Given the description of an element on the screen output the (x, y) to click on. 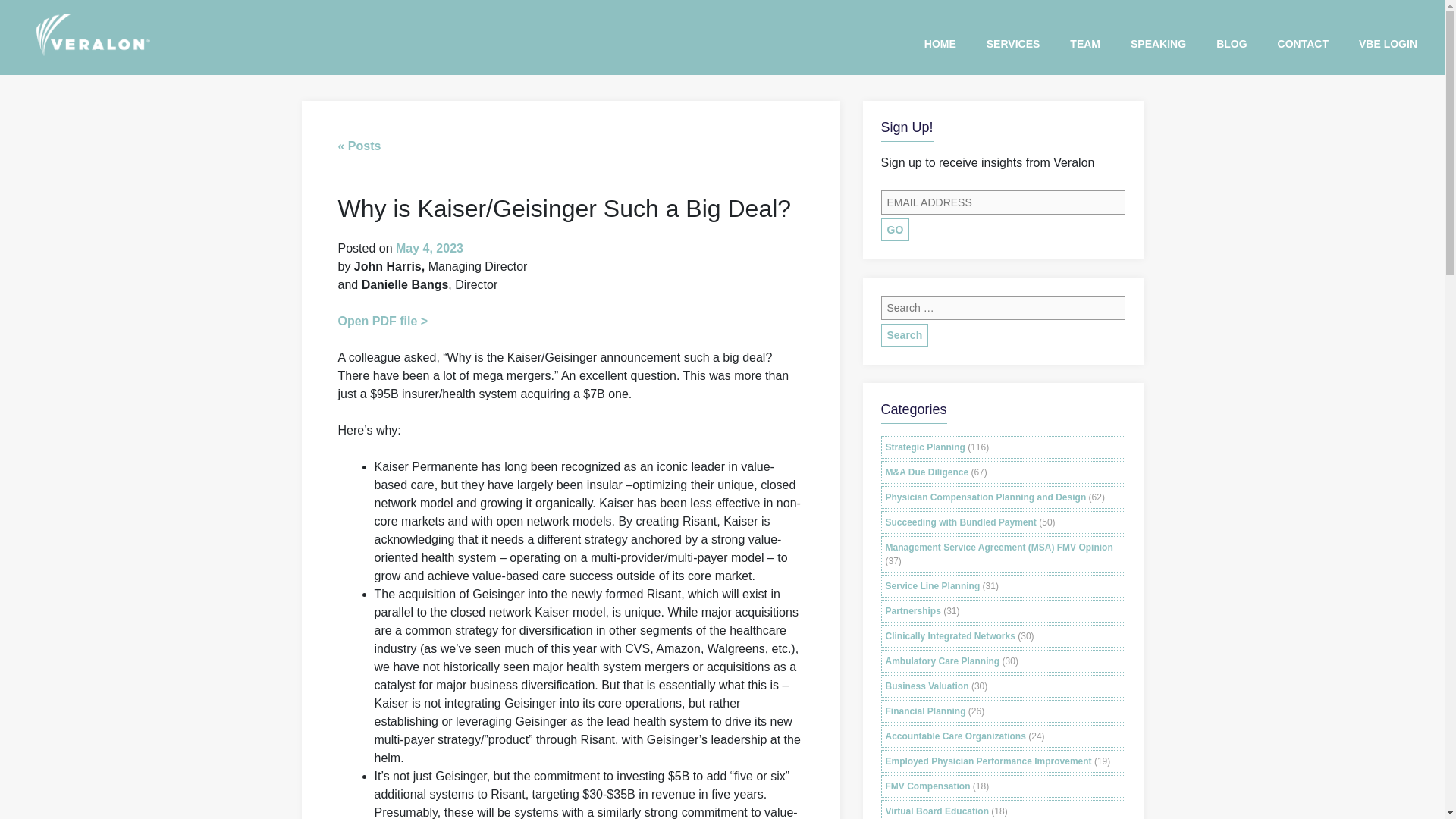
Service Line Planning (932, 585)
Search (904, 334)
GO (895, 229)
Succeeding with Bundled Payment (960, 522)
Search (904, 334)
Business Valuation (927, 685)
GO (895, 229)
VBE LOGIN (1387, 45)
Financial Planning (925, 711)
Clinically Integrated Networks (949, 635)
